Given the description of an element on the screen output the (x, y) to click on. 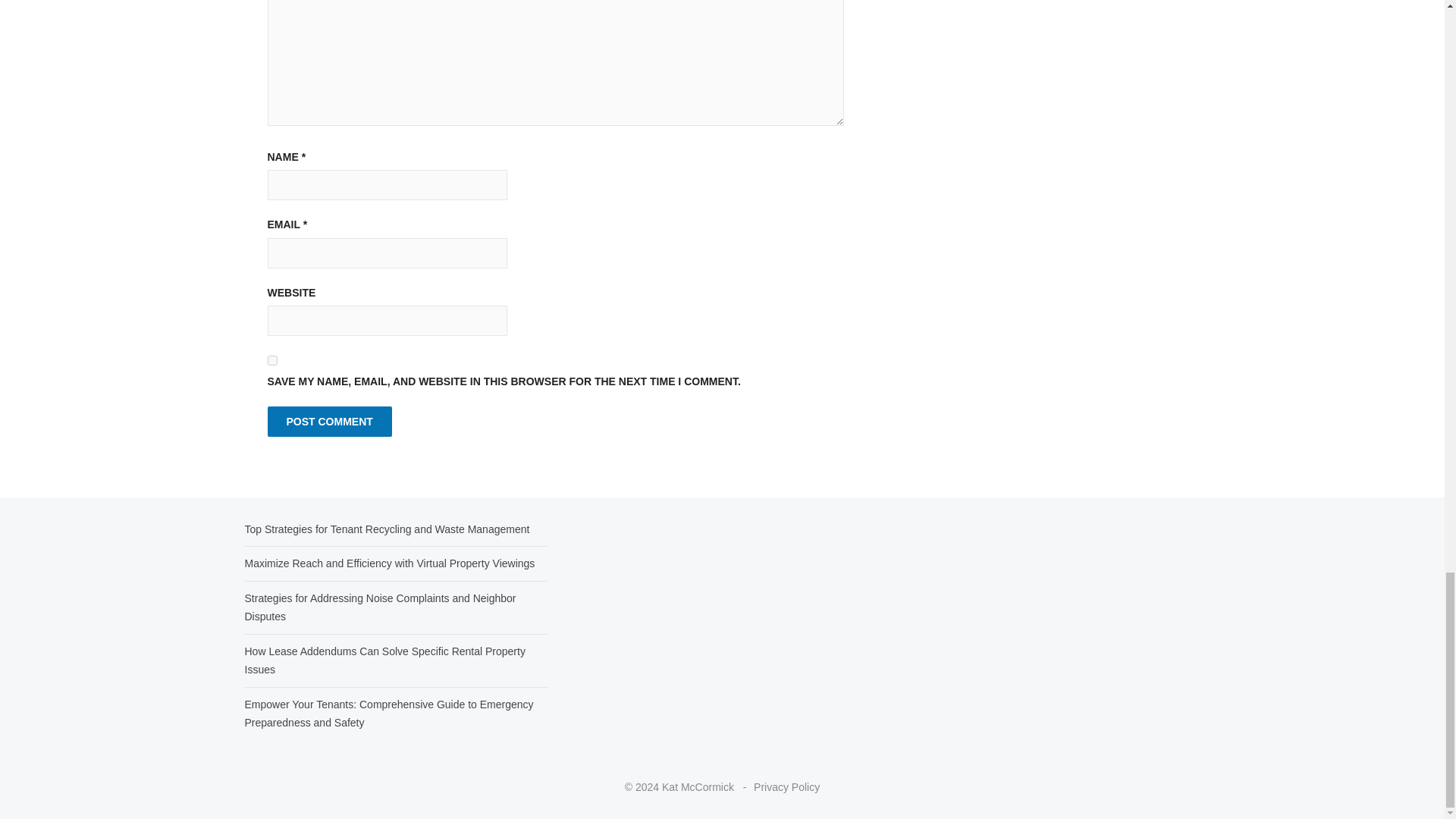
Post Comment (328, 421)
Post Comment (328, 421)
yes (271, 360)
